Given the description of an element on the screen output the (x, y) to click on. 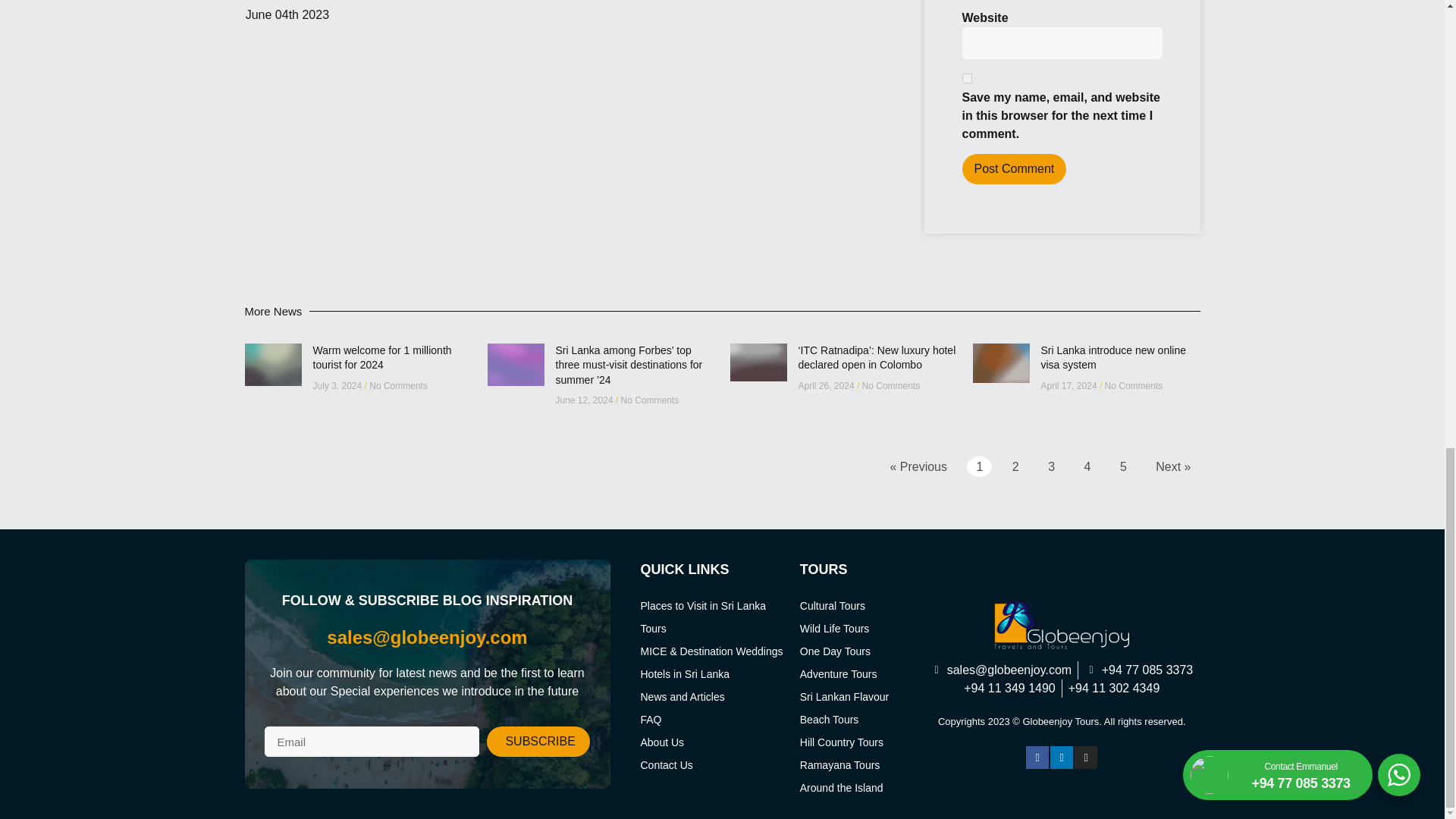
yes (965, 78)
Post Comment (1012, 168)
